Given the description of an element on the screen output the (x, y) to click on. 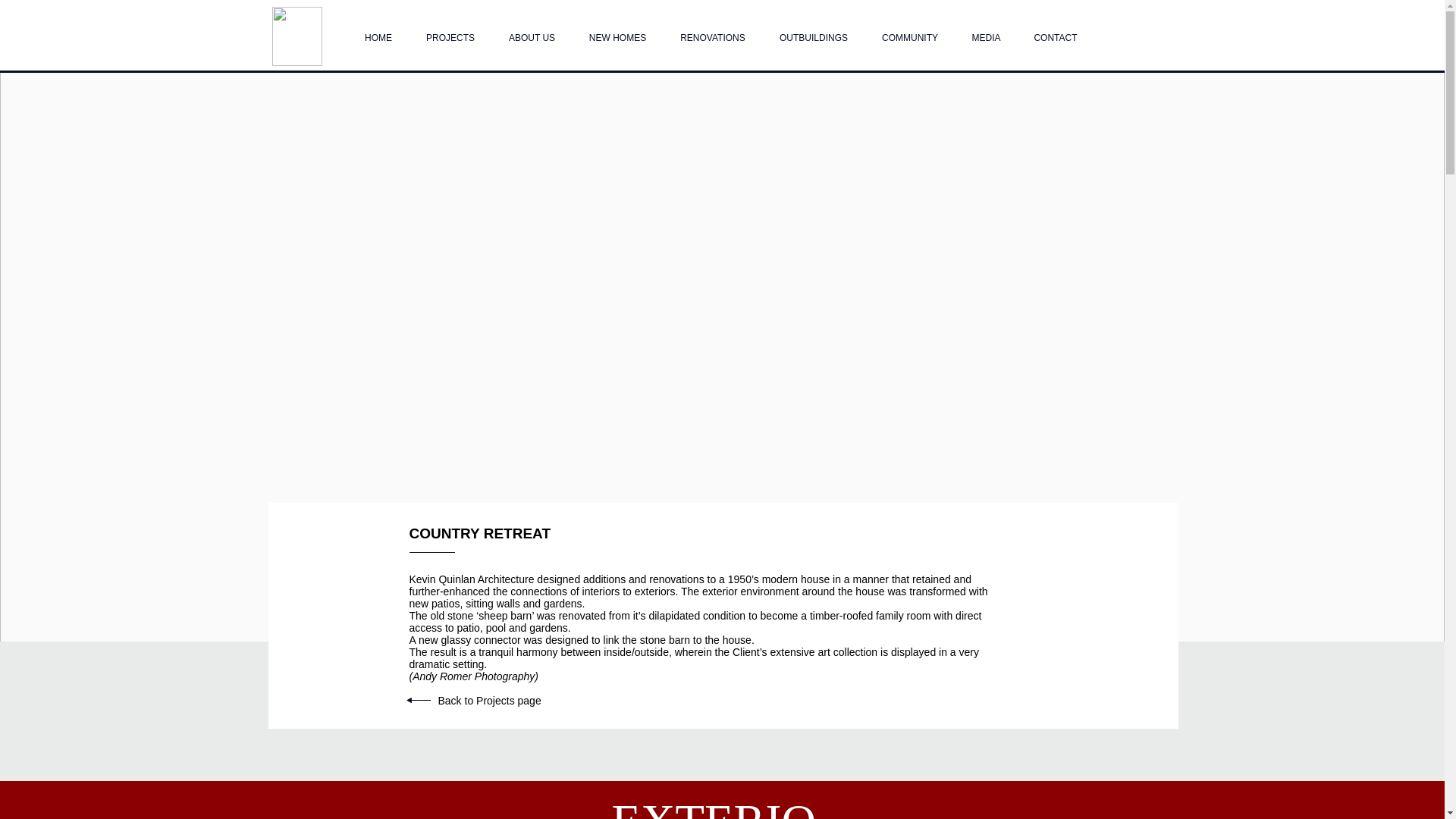
HOME (378, 31)
CONTACT (1055, 31)
NEW HOMES (617, 31)
MEDIA (986, 31)
COMMUNITY (909, 31)
RENOVATIONS (711, 31)
PROJECTS (450, 31)
ABOUT US (532, 31)
Back to Projects page (489, 700)
OUTBUILDINGS (813, 31)
